Given the description of an element on the screen output the (x, y) to click on. 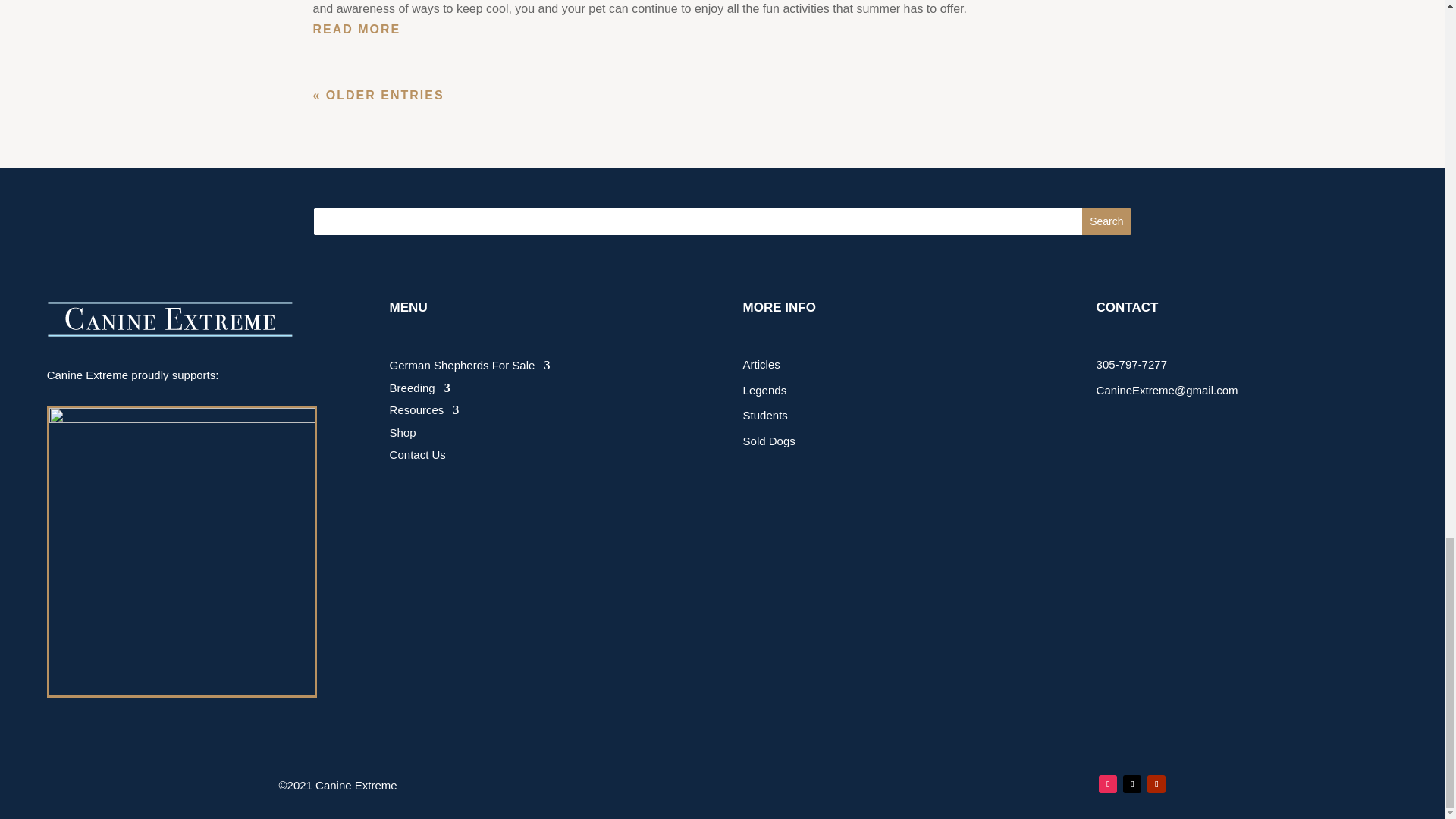
Search (1106, 221)
German Shepherds For Sale (470, 368)
canine-extreme-supports (182, 551)
Follow on Instagram (1107, 783)
Search (1106, 221)
Breeding (419, 391)
READ MORE (722, 28)
Search (1106, 221)
Follow on X (1131, 783)
canine-extreme-logo (172, 319)
Follow on Youtube (1156, 783)
